Given the description of an element on the screen output the (x, y) to click on. 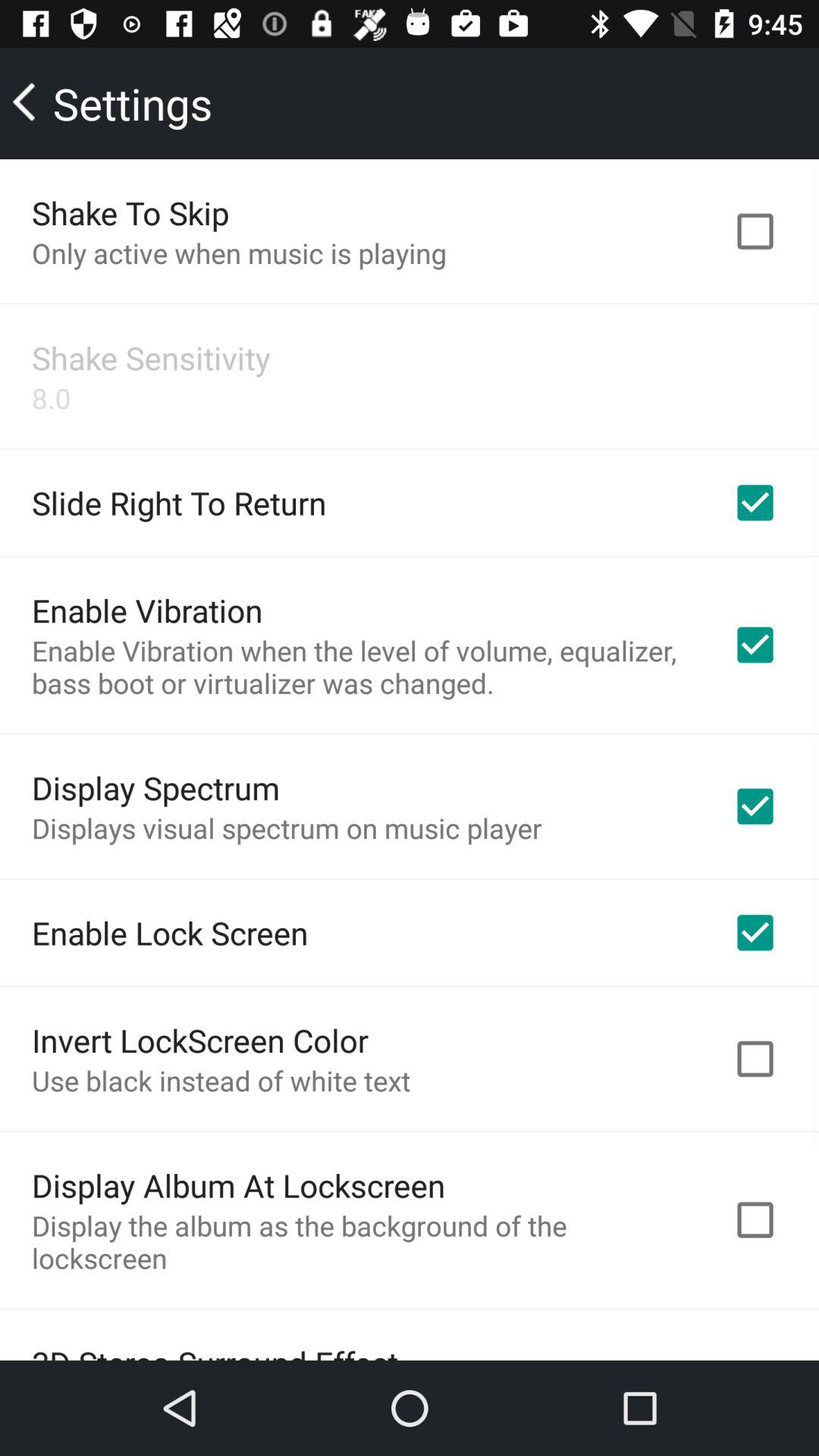
open the icon below the settings icon (130, 212)
